Given the description of an element on the screen output the (x, y) to click on. 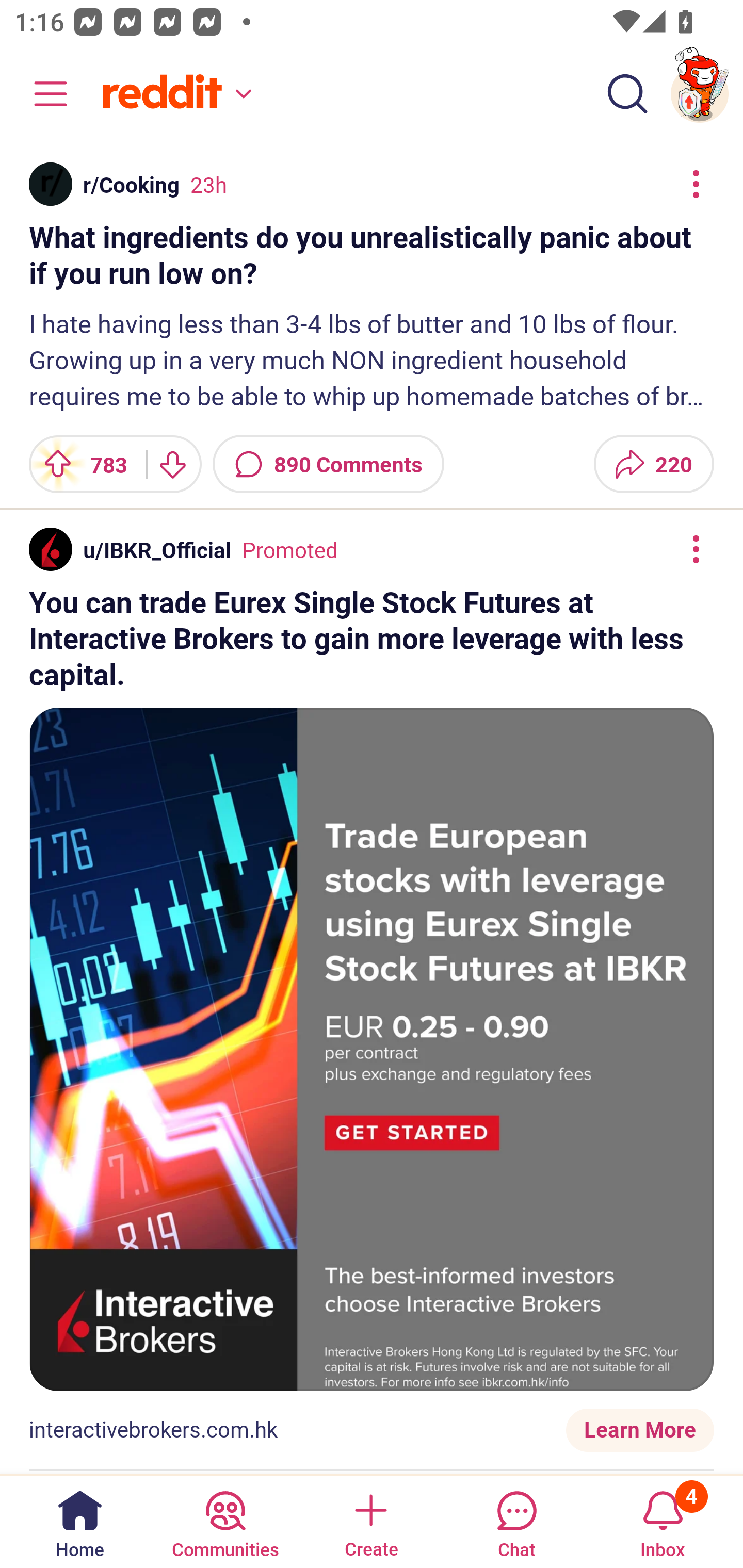
Search (626, 93)
TestAppium002 account (699, 93)
Community menu (41, 94)
Home feed (173, 94)
Home (80, 1520)
Communities (225, 1520)
Create a post Create (370, 1520)
Chat (516, 1520)
Inbox, has 4 notifications 4 Inbox (662, 1520)
